Given the description of an element on the screen output the (x, y) to click on. 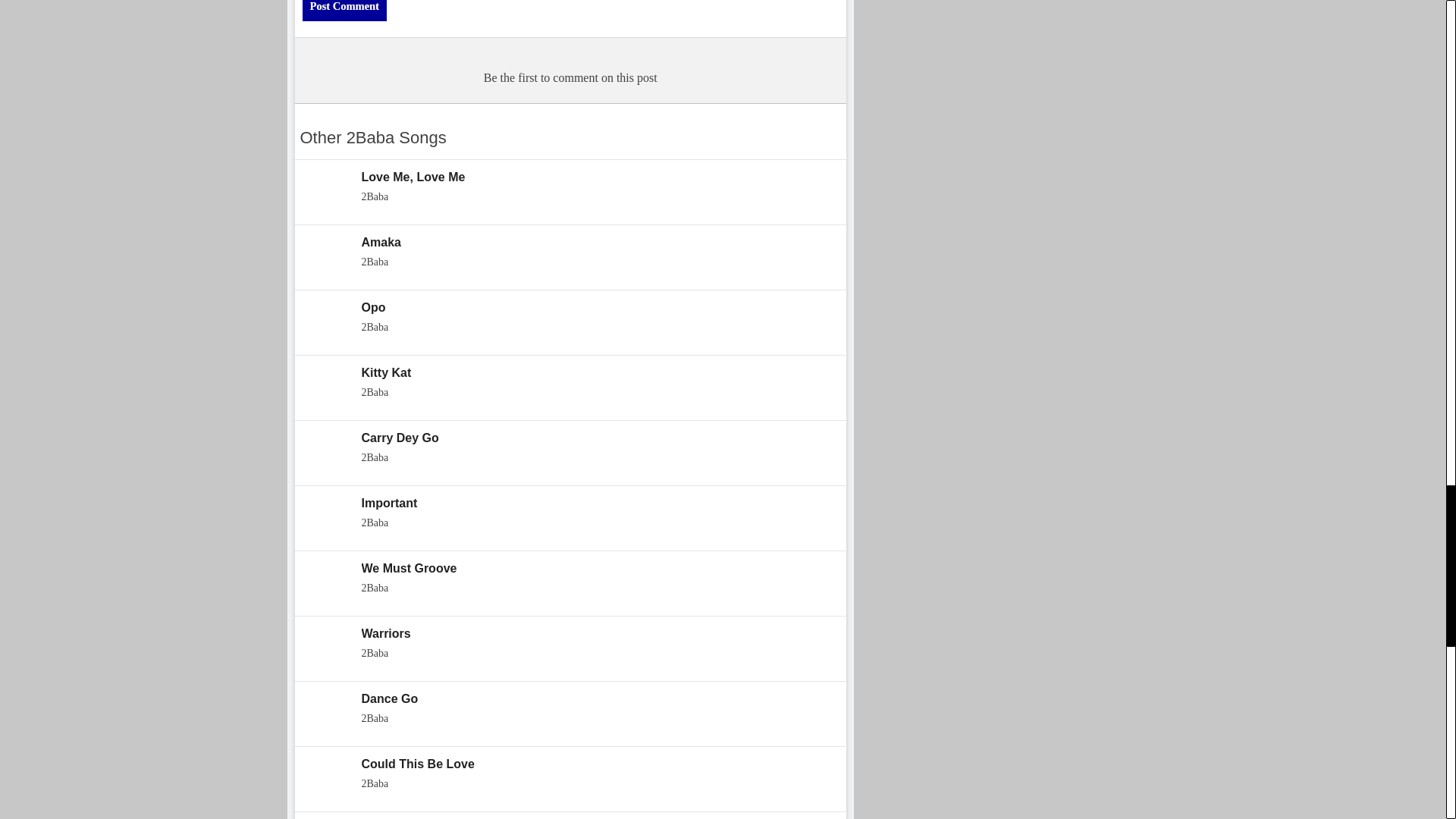
Post Comment (343, 10)
